Given the description of an element on the screen output the (x, y) to click on. 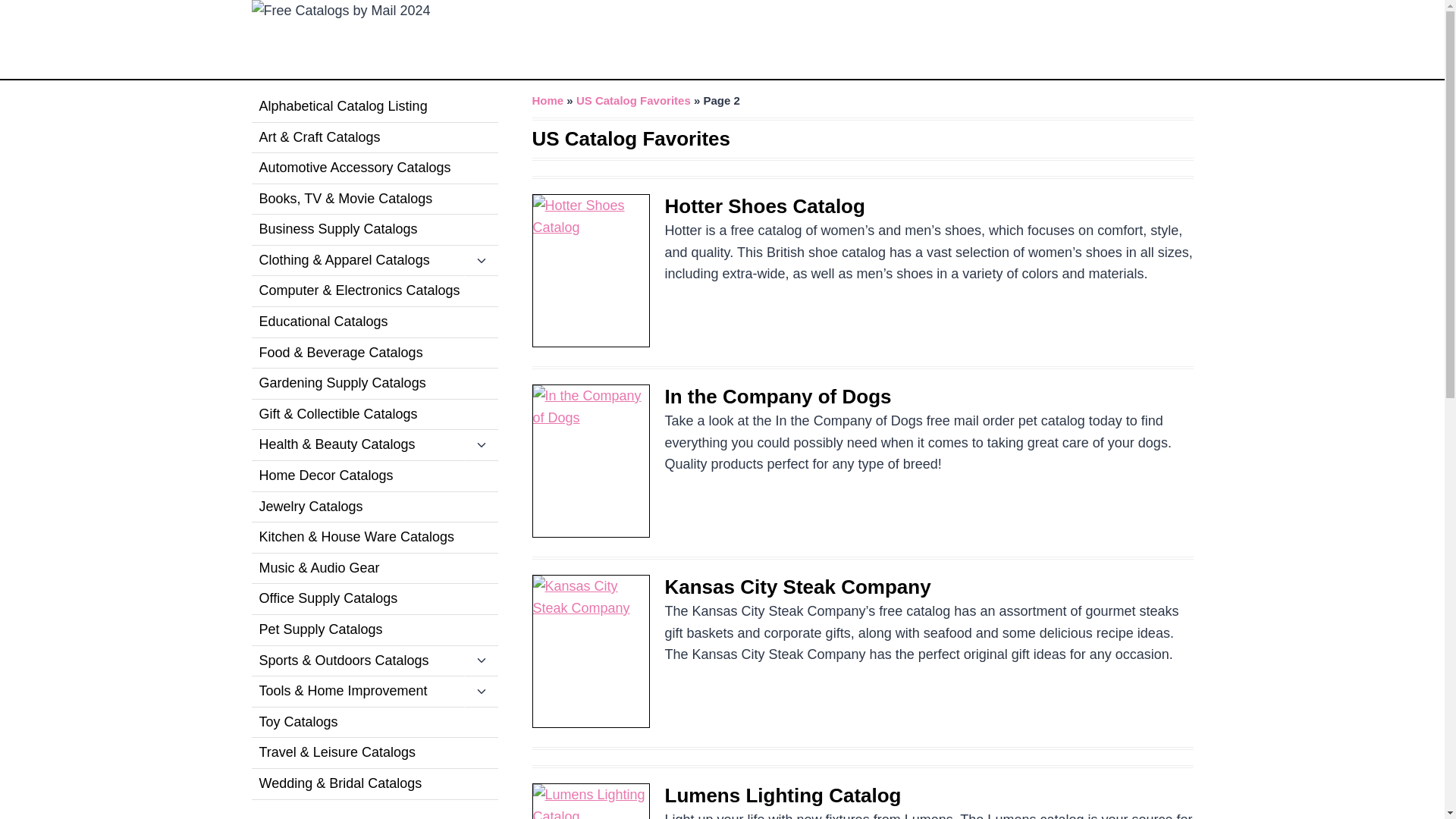
In the Company of Dogs (777, 395)
Lumens Lighting Catalog (782, 794)
Business Supply Catalogs (374, 229)
Toggle child menu (480, 260)
Gardening Supply Catalogs (374, 383)
Home (548, 100)
Automotive Accessory Catalogs (374, 168)
Kansas City Steak Company (796, 586)
Educational Catalogs (374, 322)
Hotter Shoes Catalog (763, 205)
Alphabetical Catalog Listing (374, 106)
US Catalog Favorites (633, 100)
